Given the description of an element on the screen output the (x, y) to click on. 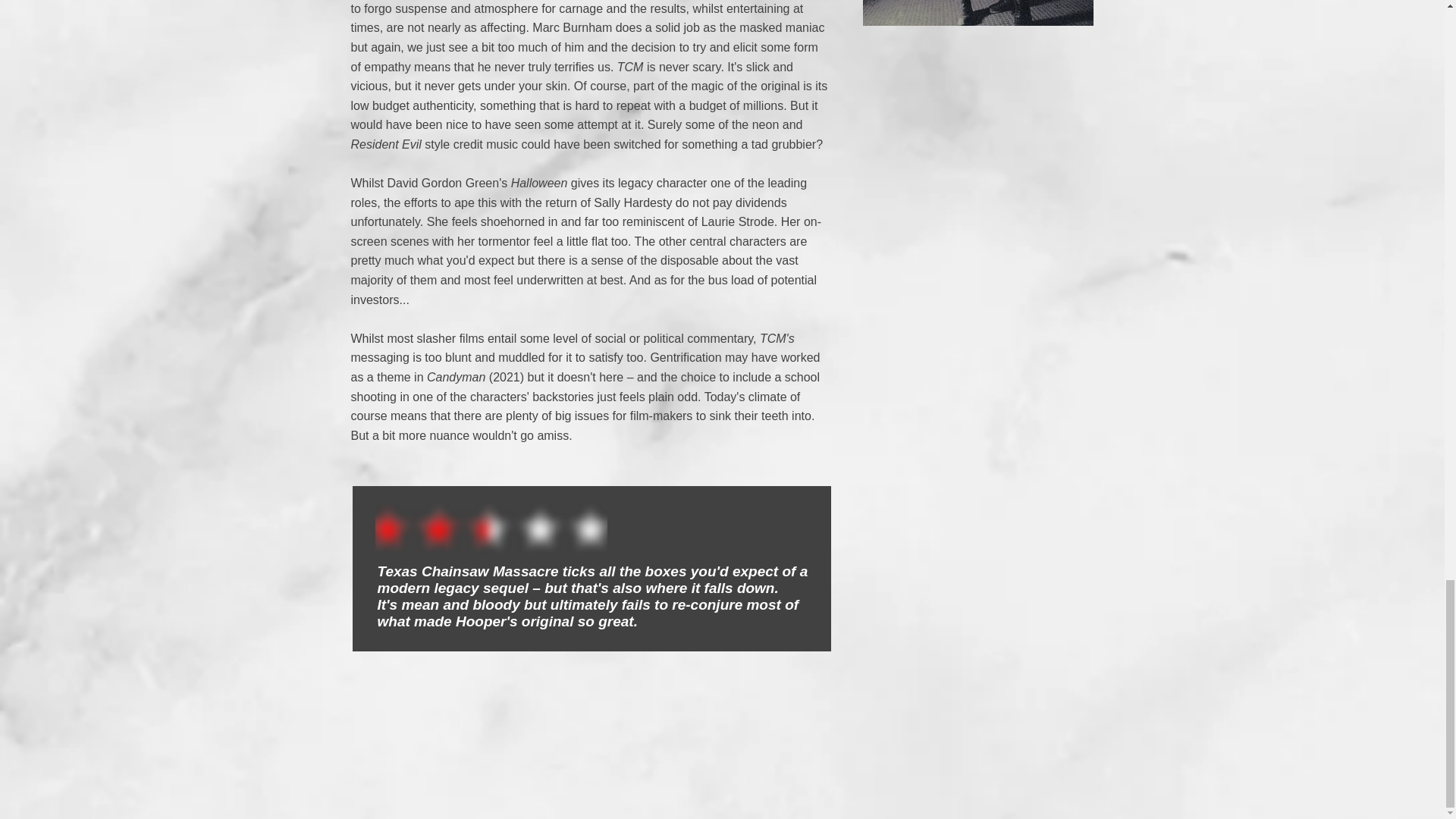
FIVE FILMS FROM...2004 (977, 2)
